Given the description of an element on the screen output the (x, y) to click on. 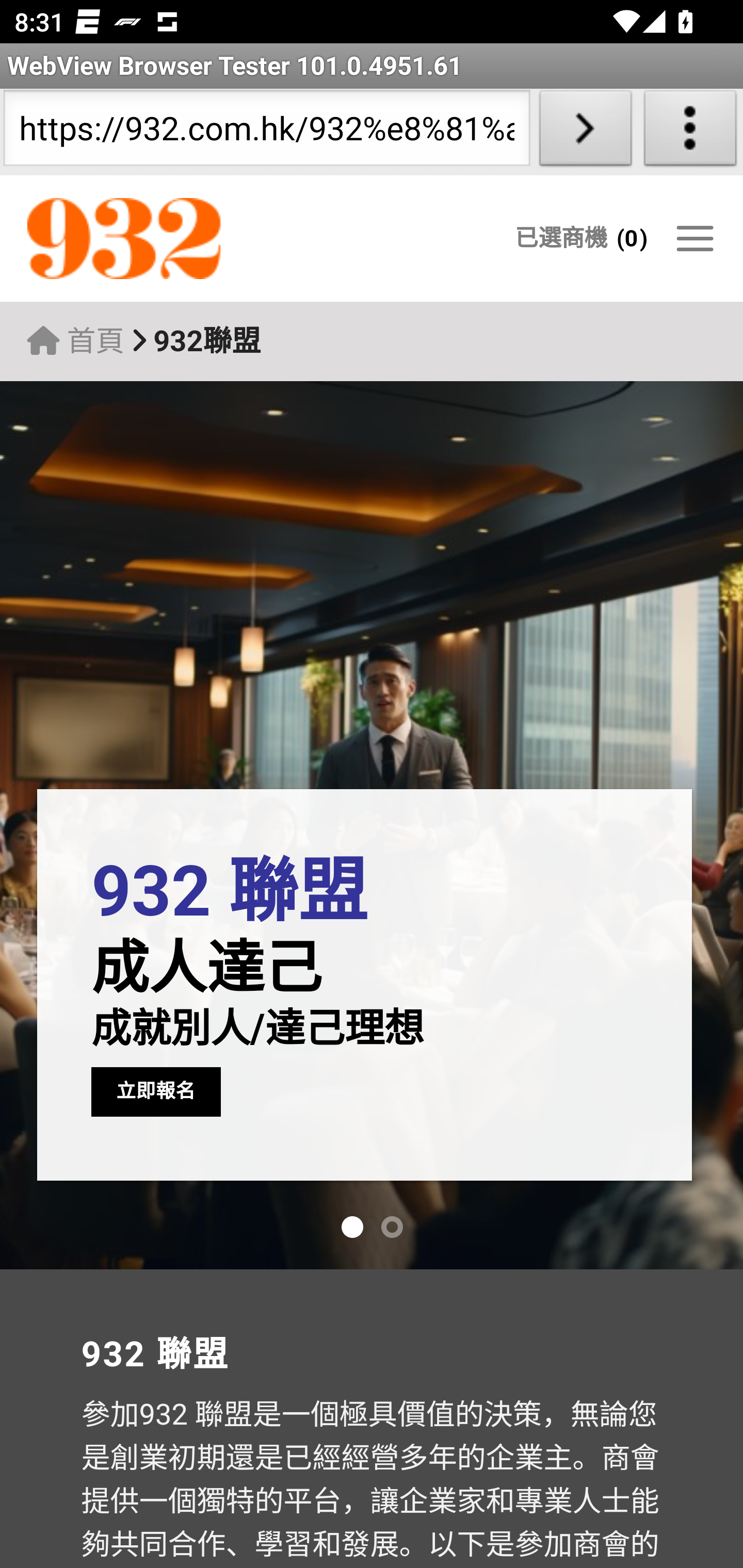
https://932.com.hk/932%e8%81%af%e7%9b%9f/ (266, 132)
Load URL (585, 132)
About WebView (690, 132)
已選商機 ( 0 ) 已選商機 ( 0 ) (580, 237)
Menu  (694, 237)
932香港生意轉讓平台 (207, 238)
 首頁   首頁 (75, 341)
立即報名 (156, 1090)
Page dot 1 Page dot 2 (371, 1227)
